Given the description of an element on the screen output the (x, y) to click on. 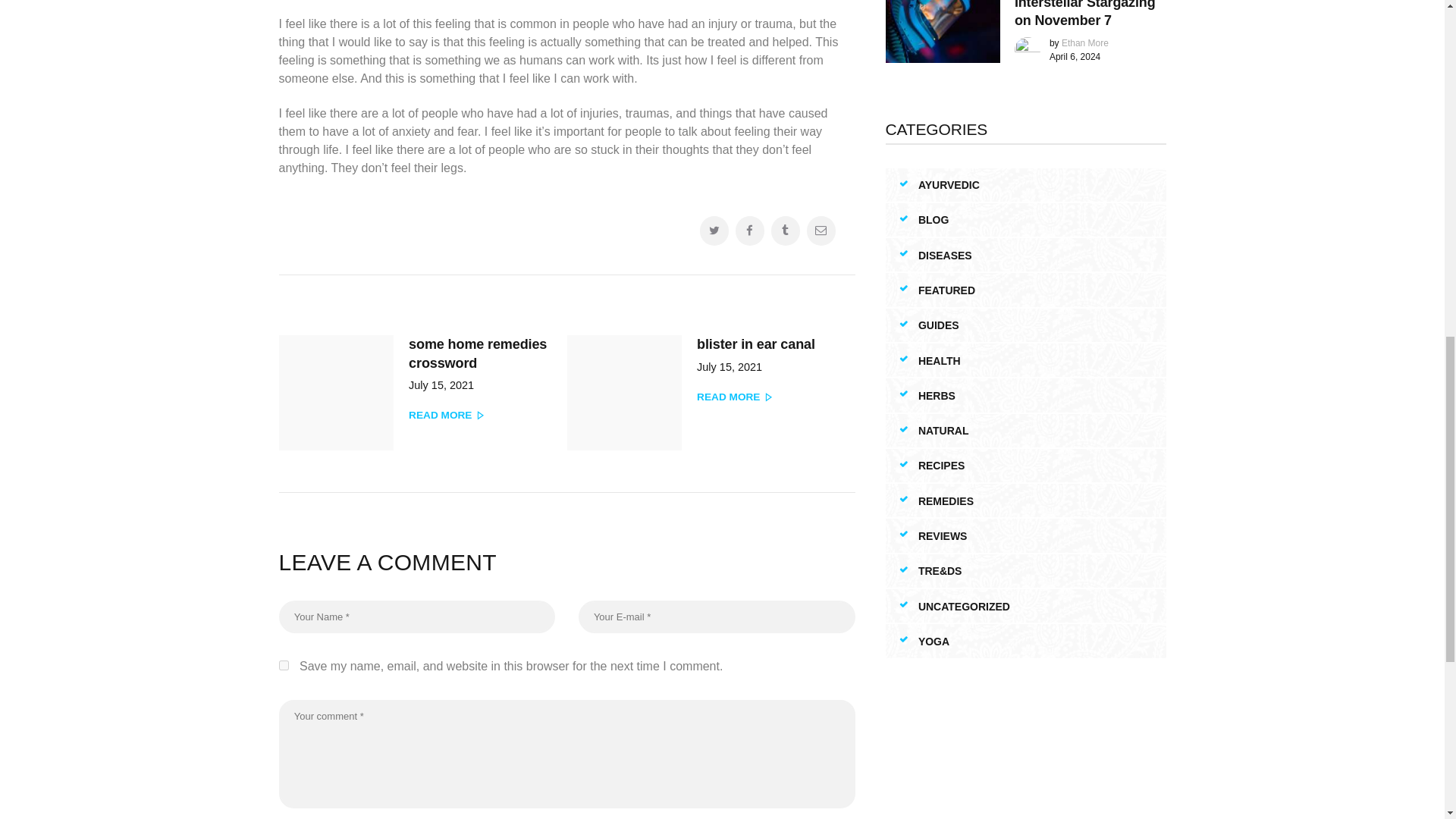
yes (283, 665)
